Given the description of an element on the screen output the (x, y) to click on. 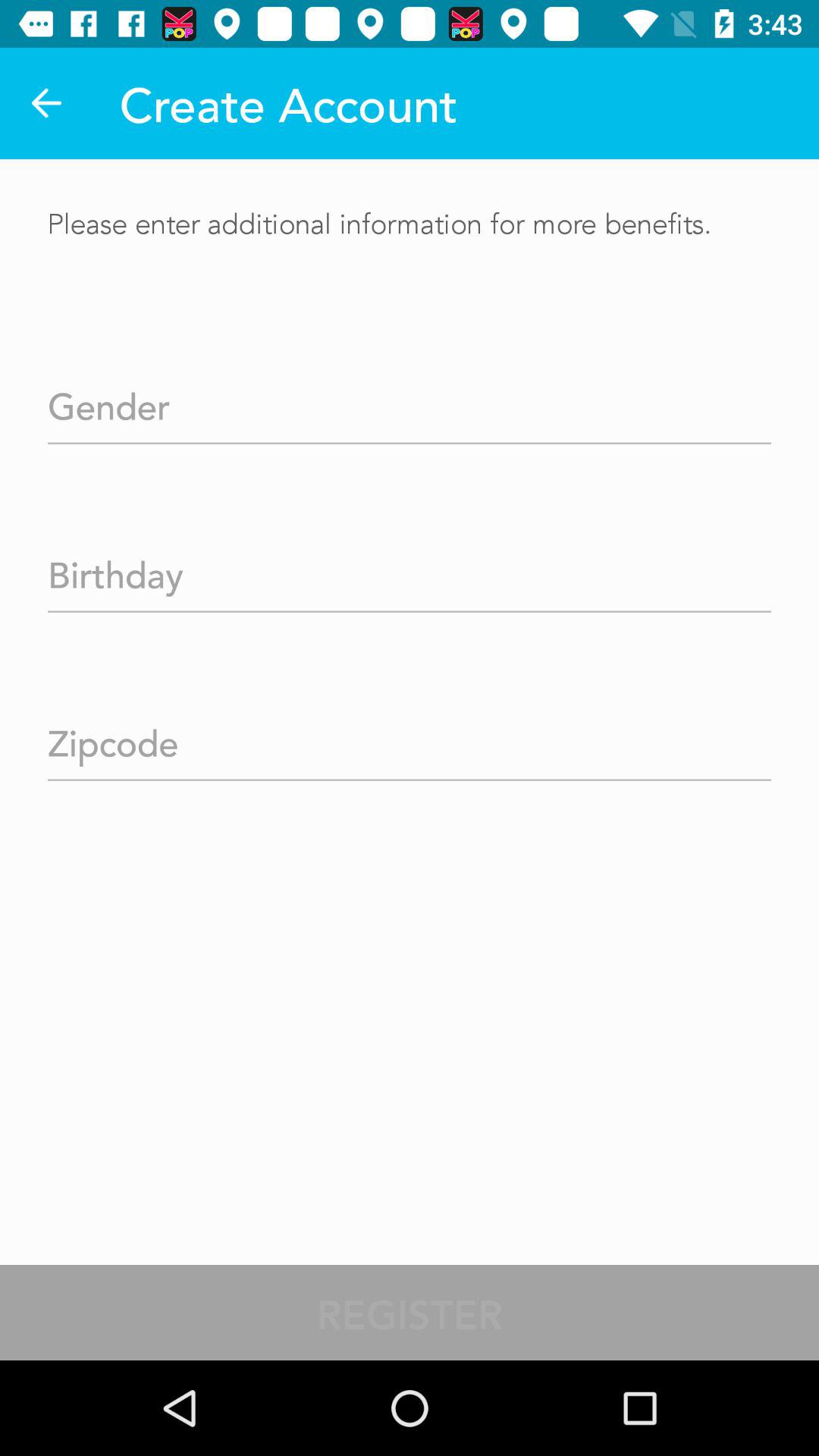
swipe to the register (409, 1312)
